Given the description of an element on the screen output the (x, y) to click on. 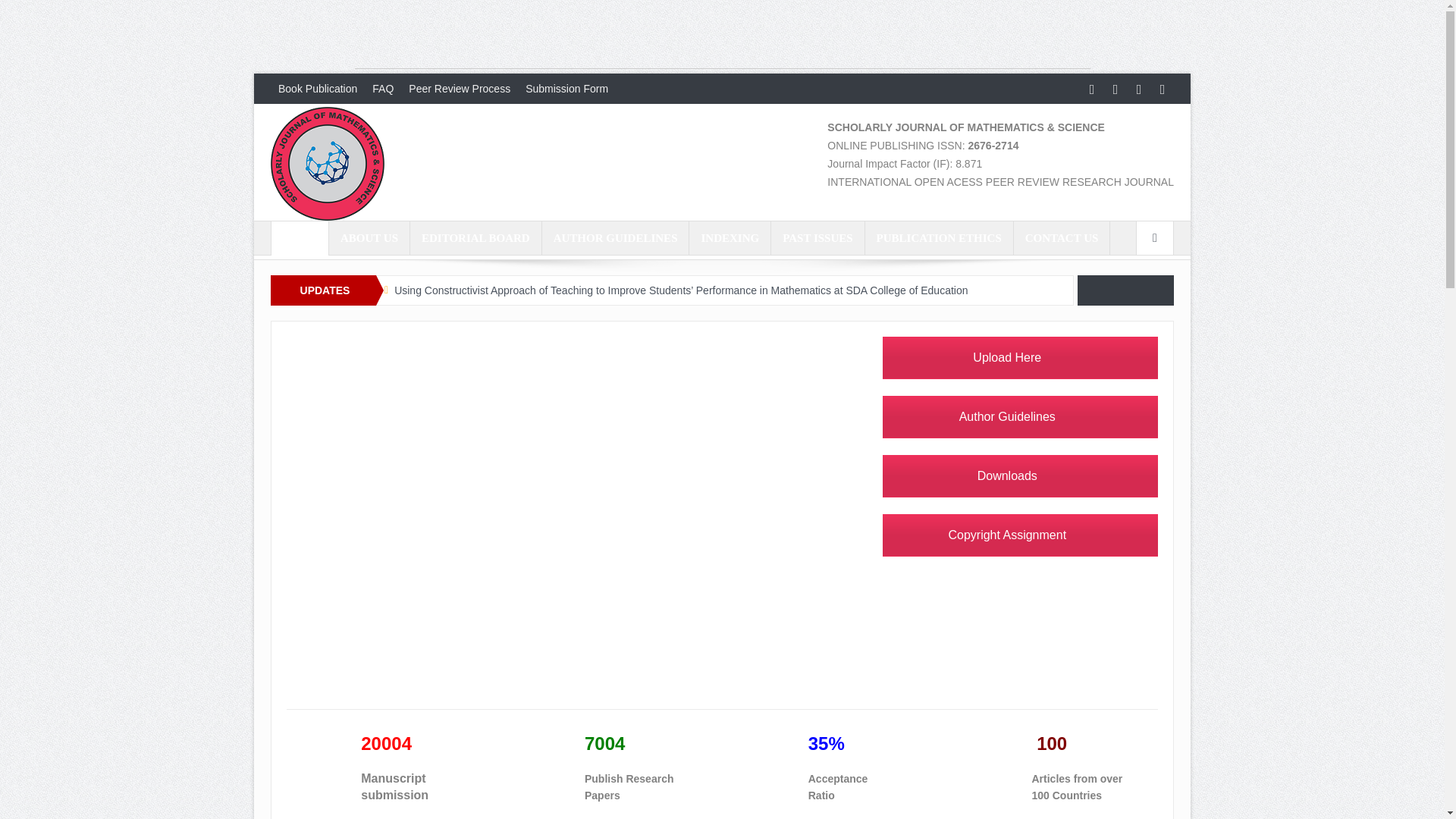
EDITORIAL BOARD (475, 237)
ABOUT US (369, 237)
submissions (1019, 357)
Peer Review Process (459, 88)
Submission Form (566, 88)
PAST ISSUES (817, 237)
Author Guidelines (1019, 416)
HOME (299, 237)
INDEXING (729, 237)
FAQ (383, 88)
